Given the description of an element on the screen output the (x, y) to click on. 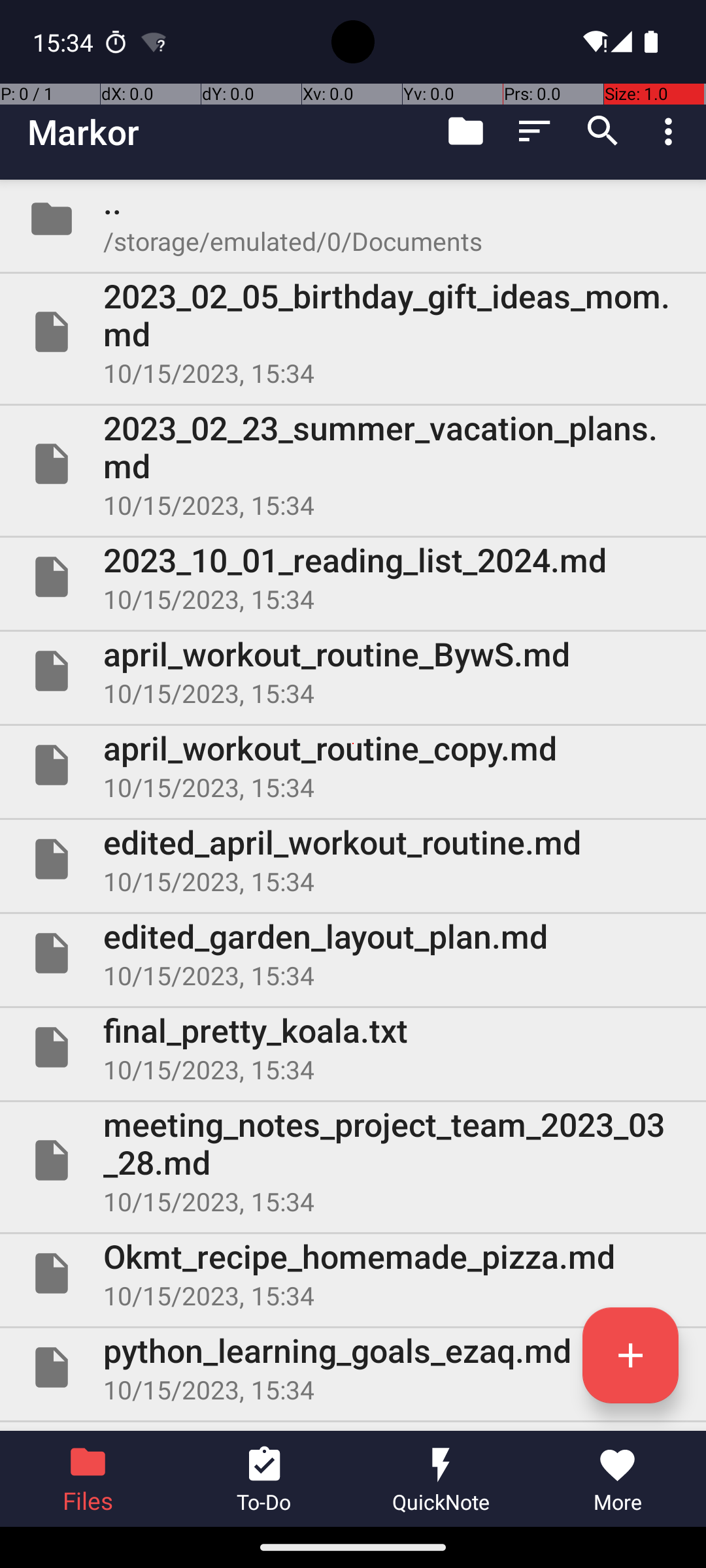
File 2023_02_05_birthday_gift_ideas_mom.md  Element type: android.widget.LinearLayout (353, 331)
File 2023_02_23_summer_vacation_plans.md  Element type: android.widget.LinearLayout (353, 463)
File 2023_10_01_reading_list_2024.md  Element type: android.widget.LinearLayout (353, 576)
File april_workout_routine_BywS.md  Element type: android.widget.LinearLayout (353, 670)
File april_workout_routine_copy.md  Element type: android.widget.LinearLayout (353, 764)
File edited_april_workout_routine.md  Element type: android.widget.LinearLayout (353, 858)
File edited_garden_layout_plan.md  Element type: android.widget.LinearLayout (353, 953)
File final_pretty_koala.txt  Element type: android.widget.LinearLayout (353, 1047)
File meeting_notes_project_team_2023_03_28.md  Element type: android.widget.LinearLayout (353, 1160)
File Okmt_recipe_homemade_pizza.md  Element type: android.widget.LinearLayout (353, 1273)
File python_learning_goals_ezaq.md  Element type: android.widget.LinearLayout (353, 1367)
File startup_ideas_launch_2023_02_17.md  Element type: android.widget.LinearLayout (353, 1426)
